Given the description of an element on the screen output the (x, y) to click on. 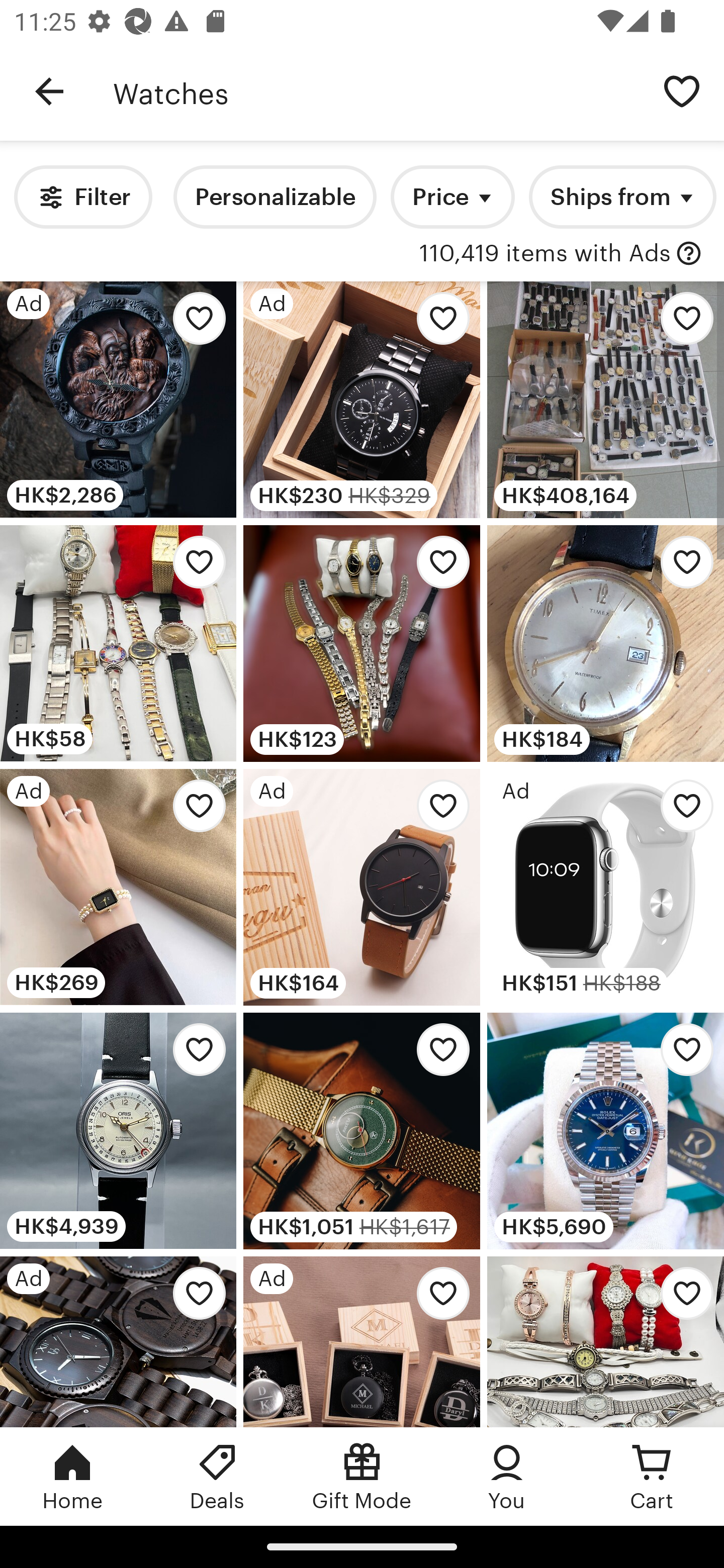
Navigate up (49, 91)
Save search (681, 90)
Watches (375, 91)
Filter (82, 197)
Personalizable (274, 197)
Price (452, 197)
Ships from (622, 197)
110,419 items with Ads (545, 253)
with Ads (688, 253)
Deals (216, 1475)
Gift Mode (361, 1475)
You (506, 1475)
Cart (651, 1475)
